Given the description of an element on the screen output the (x, y) to click on. 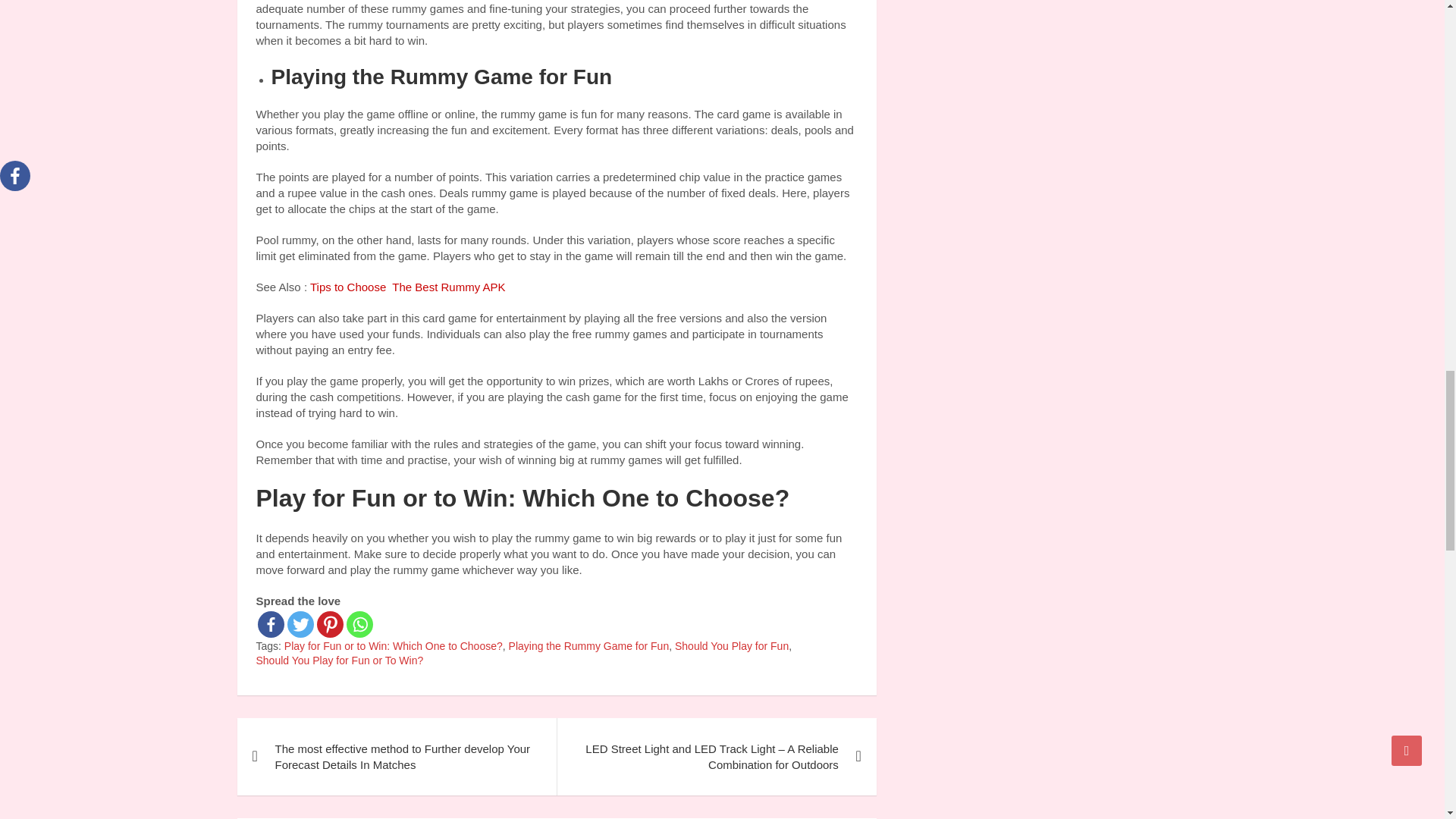
Facebook (270, 624)
Twitter (299, 624)
Pinterest (330, 624)
Whatsapp (359, 624)
